Given the description of an element on the screen output the (x, y) to click on. 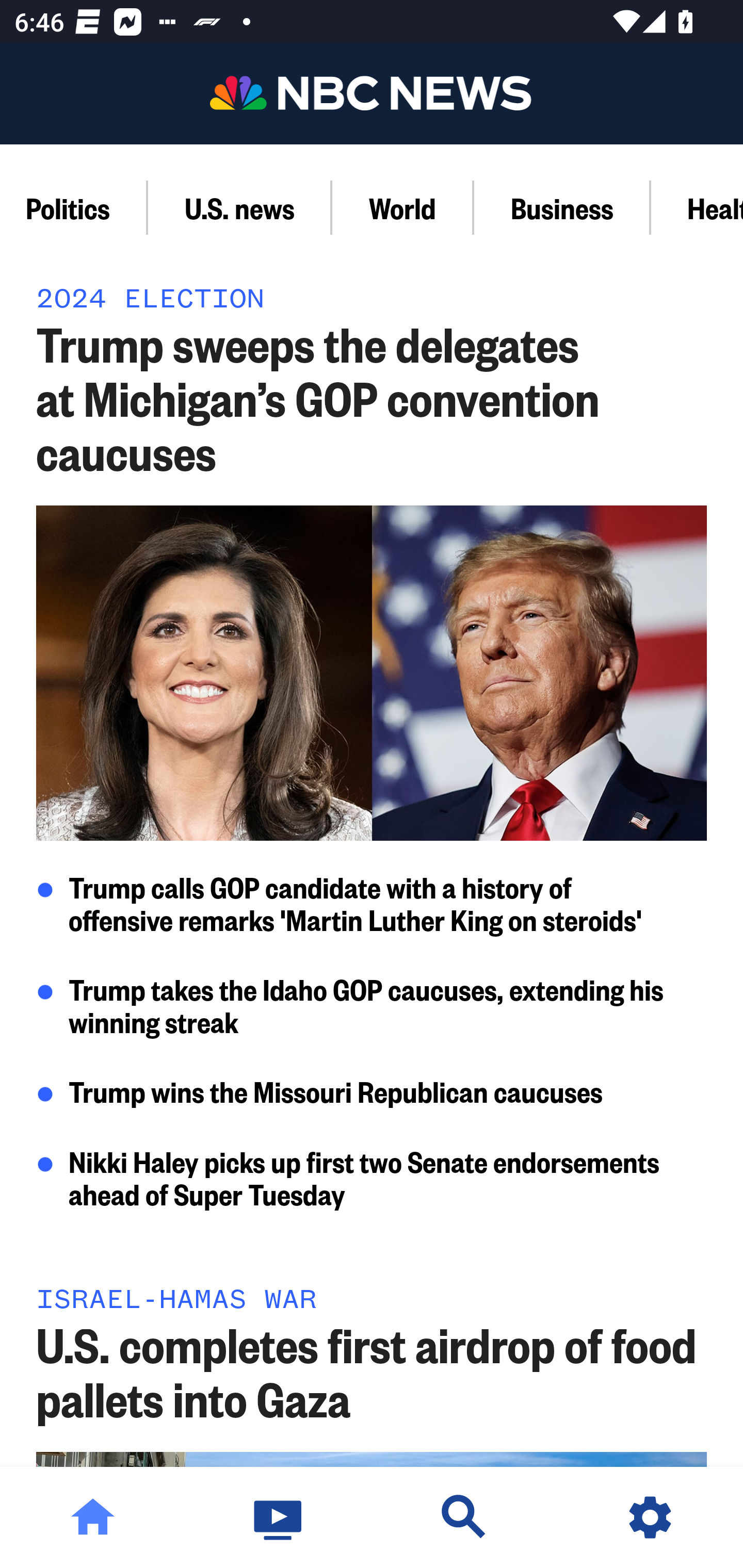
Politics Section,Politics (73, 207)
U.S. news Section,U.S. news (239, 207)
World Section,World (403, 207)
Business Section,Business (562, 207)
Watch (278, 1517)
Discover (464, 1517)
Settings (650, 1517)
